Given the description of an element on the screen output the (x, y) to click on. 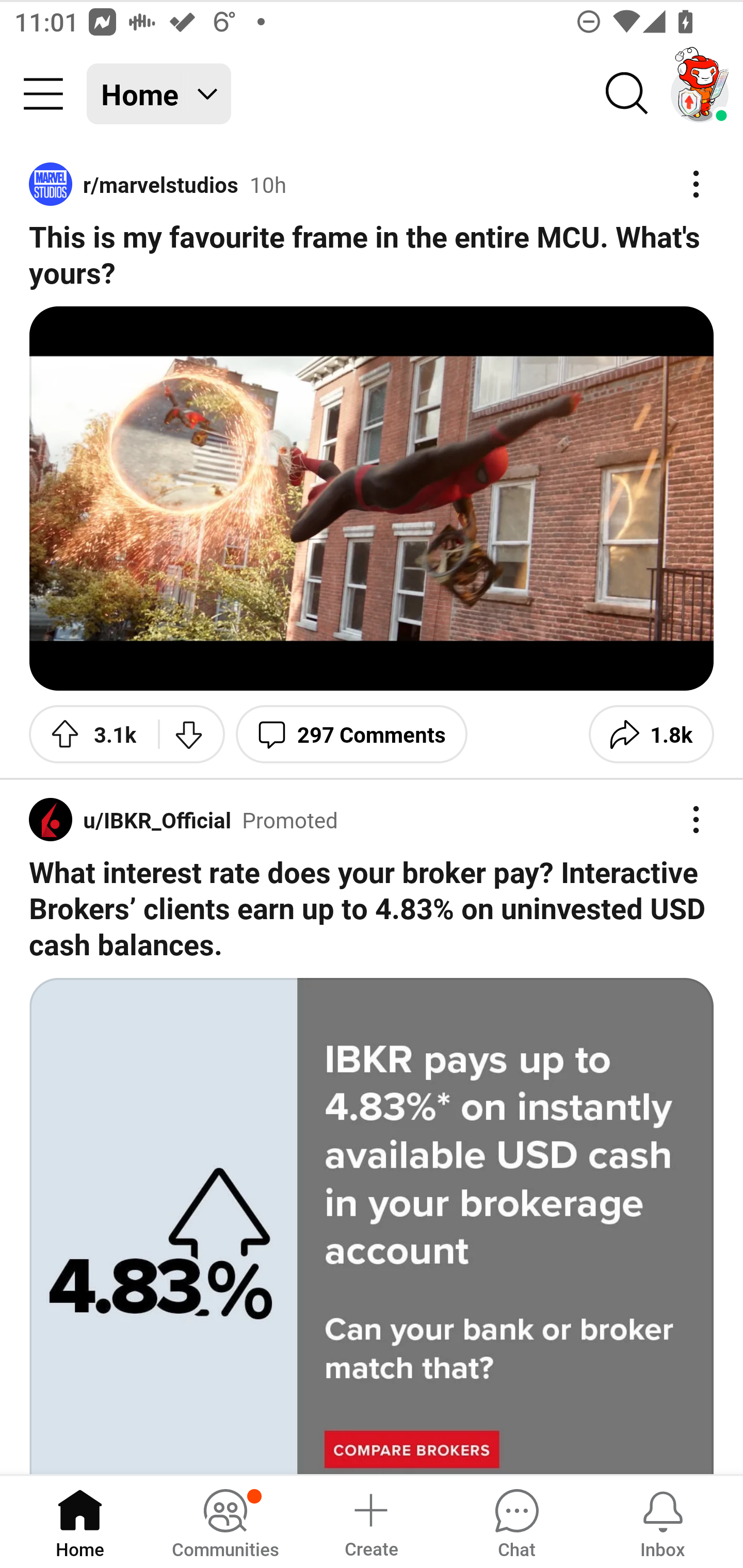
Community menu (43, 93)
Home Home feed (158, 93)
Search (626, 93)
TestAppium002 account (699, 93)
Home (80, 1520)
Communities, has notifications Communities (225, 1520)
Create a post Create (370, 1520)
Chat (516, 1520)
Inbox (662, 1520)
